Given the description of an element on the screen output the (x, y) to click on. 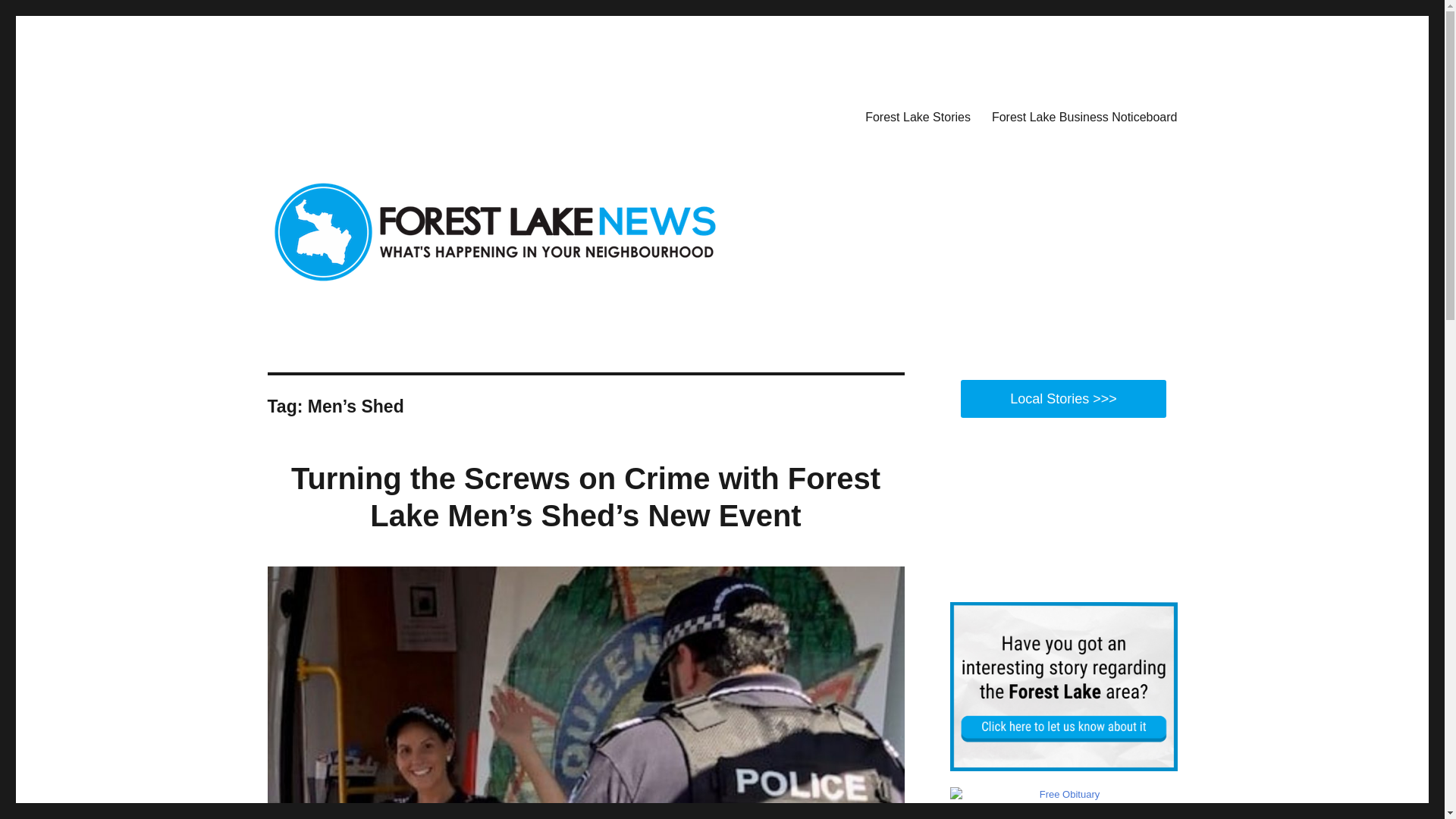
Forest Lake News (356, 114)
Forest Lake Stories (917, 116)
Forest Lake Business Noticeboard (1084, 116)
